Given the description of an element on the screen output the (x, y) to click on. 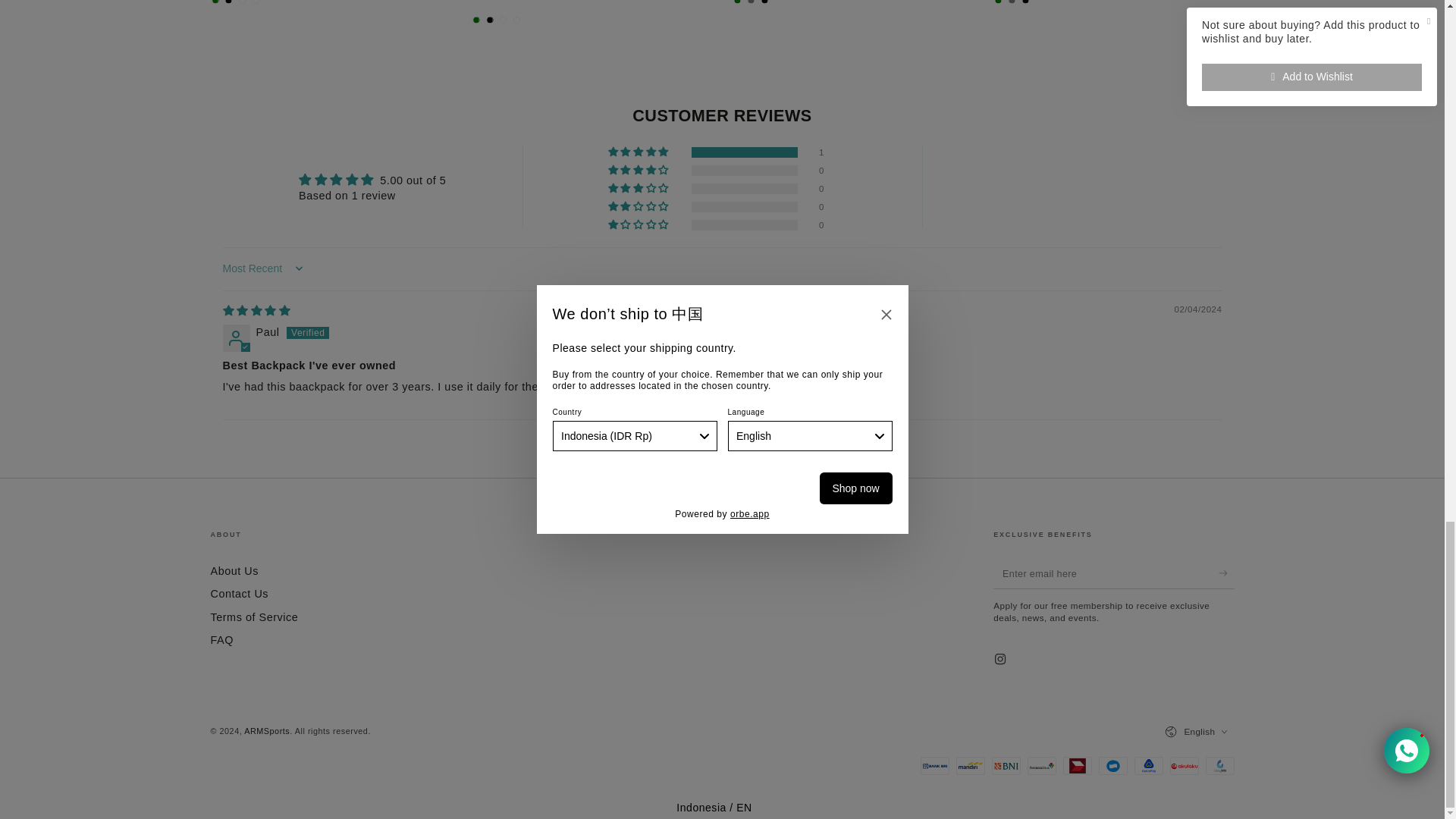
Black (1025, 2)
Gray (750, 2)
Green (997, 2)
Gray (1011, 2)
Green (737, 2)
Black (489, 20)
Black (765, 2)
Green (216, 2)
Desert Camo (242, 2)
Green (476, 20)
Desert (517, 20)
Black (228, 2)
Desert Camo (503, 20)
Desert (255, 2)
